Given the description of an element on the screen output the (x, y) to click on. 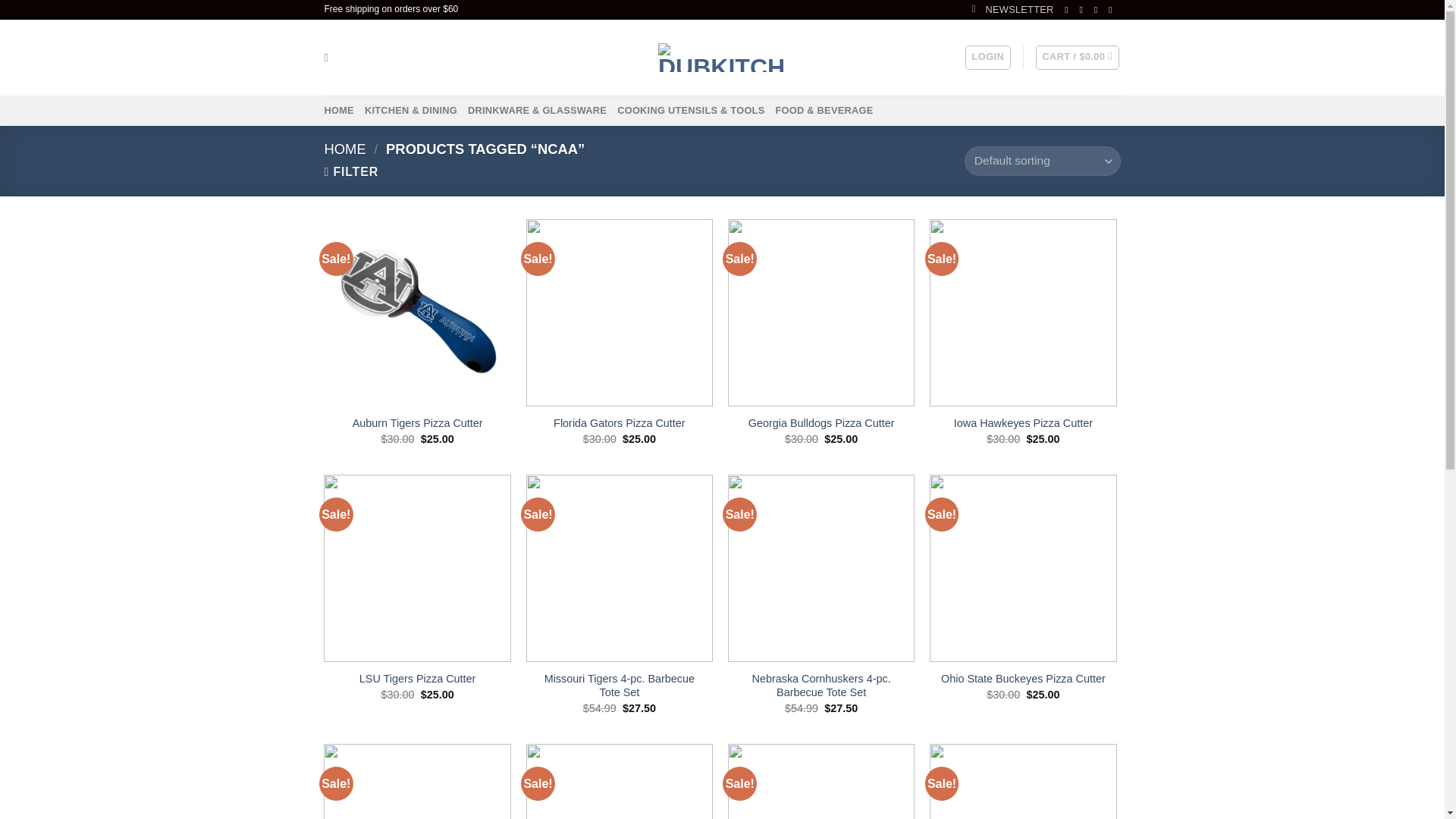
Sign up for Newsletter (1013, 9)
Georgia Bulldogs Pizza Cutter (821, 423)
Auburn Tigers Pizza Cutter (417, 423)
Cart (1077, 57)
HOME (338, 110)
NEWSLETTER (1013, 9)
HOME (345, 148)
Florida Gators Pizza Cutter (619, 423)
DUBKITCHEN (722, 57)
LOGIN (987, 57)
